Given the description of an element on the screen output the (x, y) to click on. 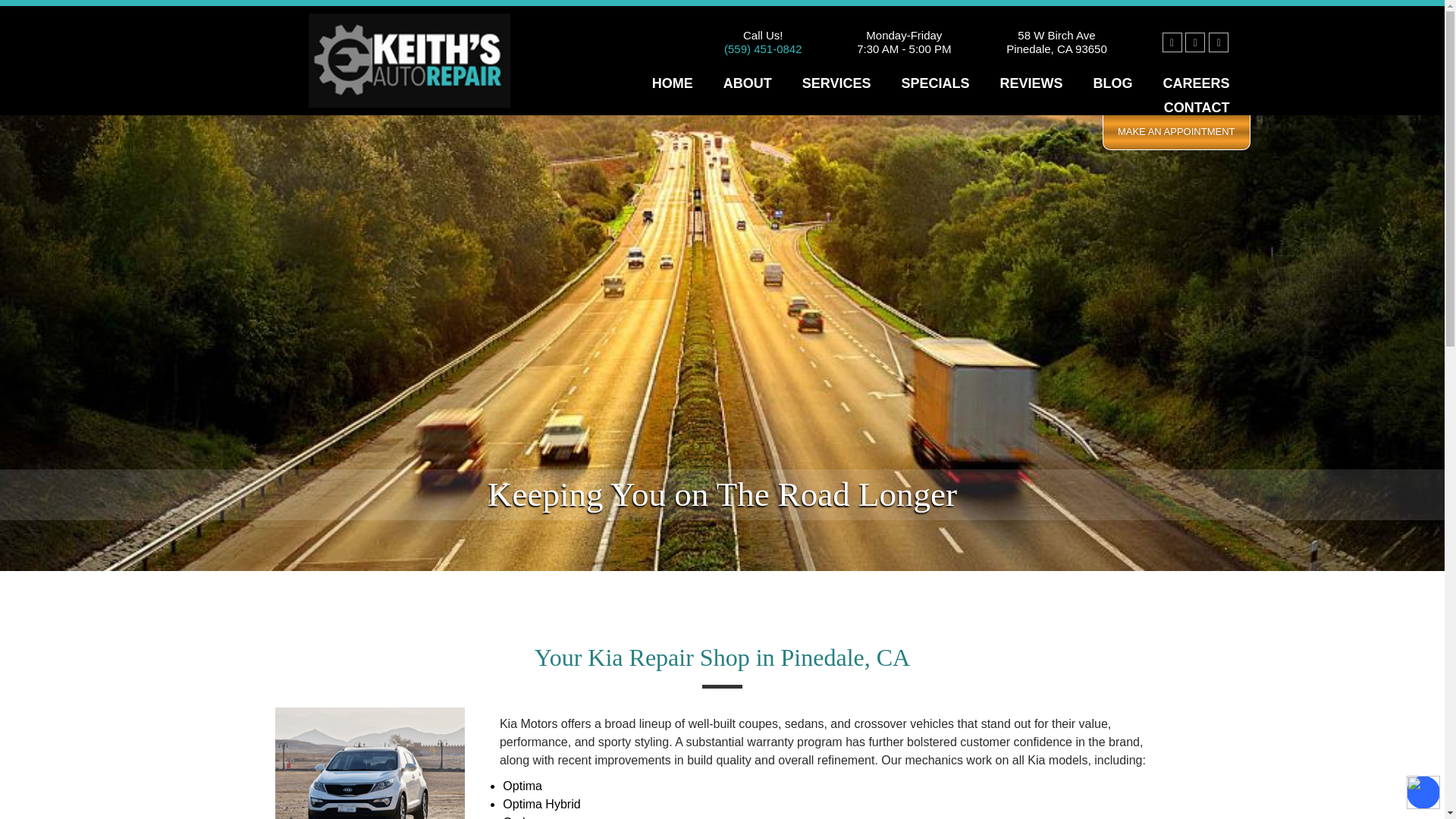
ABOUT (747, 83)
CAREERS (1194, 83)
SPECIALS (935, 83)
REVIEWS (1030, 83)
HOME (672, 83)
CONTACT (1196, 107)
BLOG (1112, 83)
Accessibility Menu (1422, 792)
58 W Birch Ave (1055, 34)
SERVICES (836, 83)
93650 (1090, 48)
Make An Appointment (1176, 132)
